Given the description of an element on the screen output the (x, y) to click on. 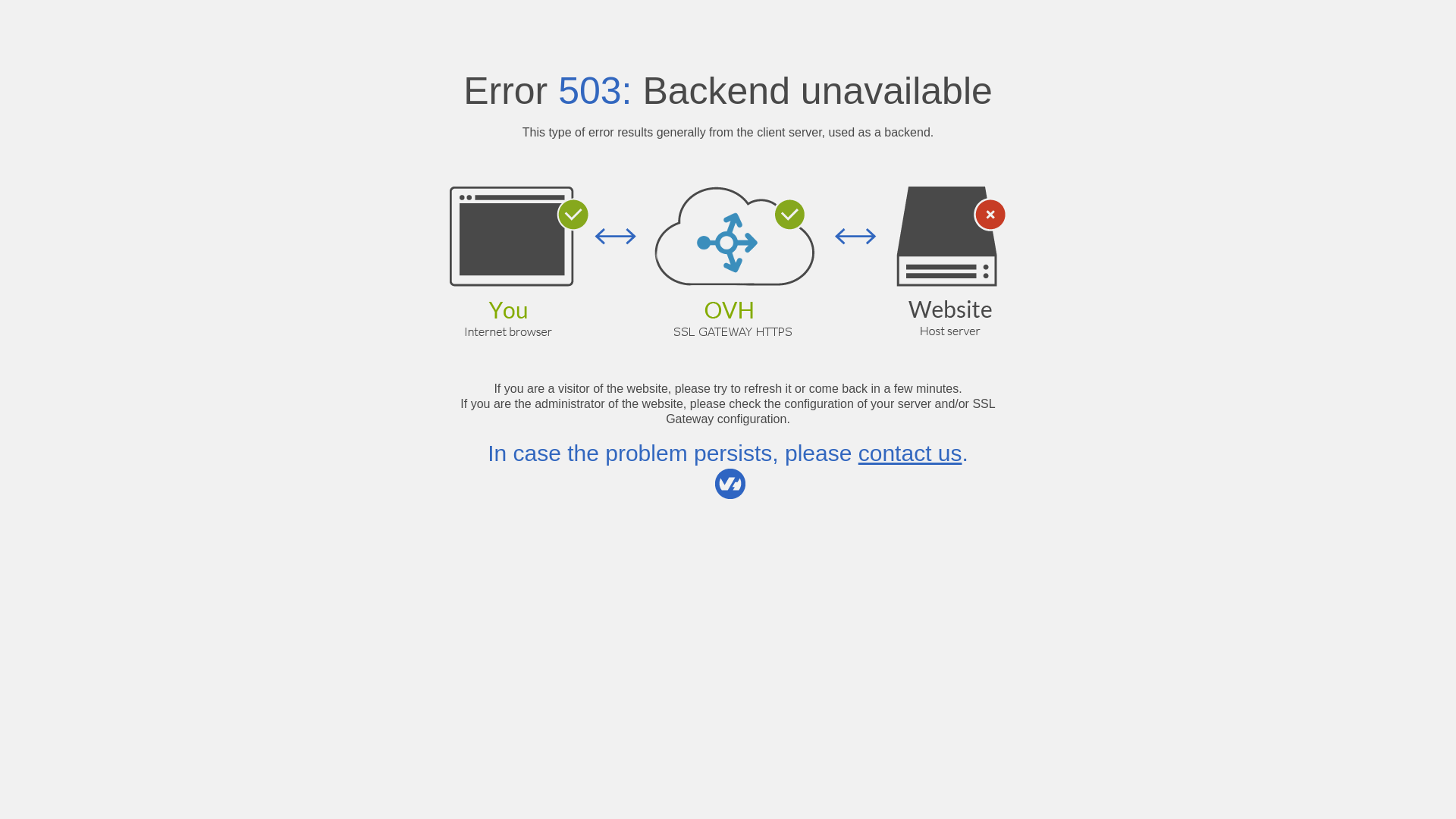
contact us Element type: text (910, 452)
